Given the description of an element on the screen output the (x, y) to click on. 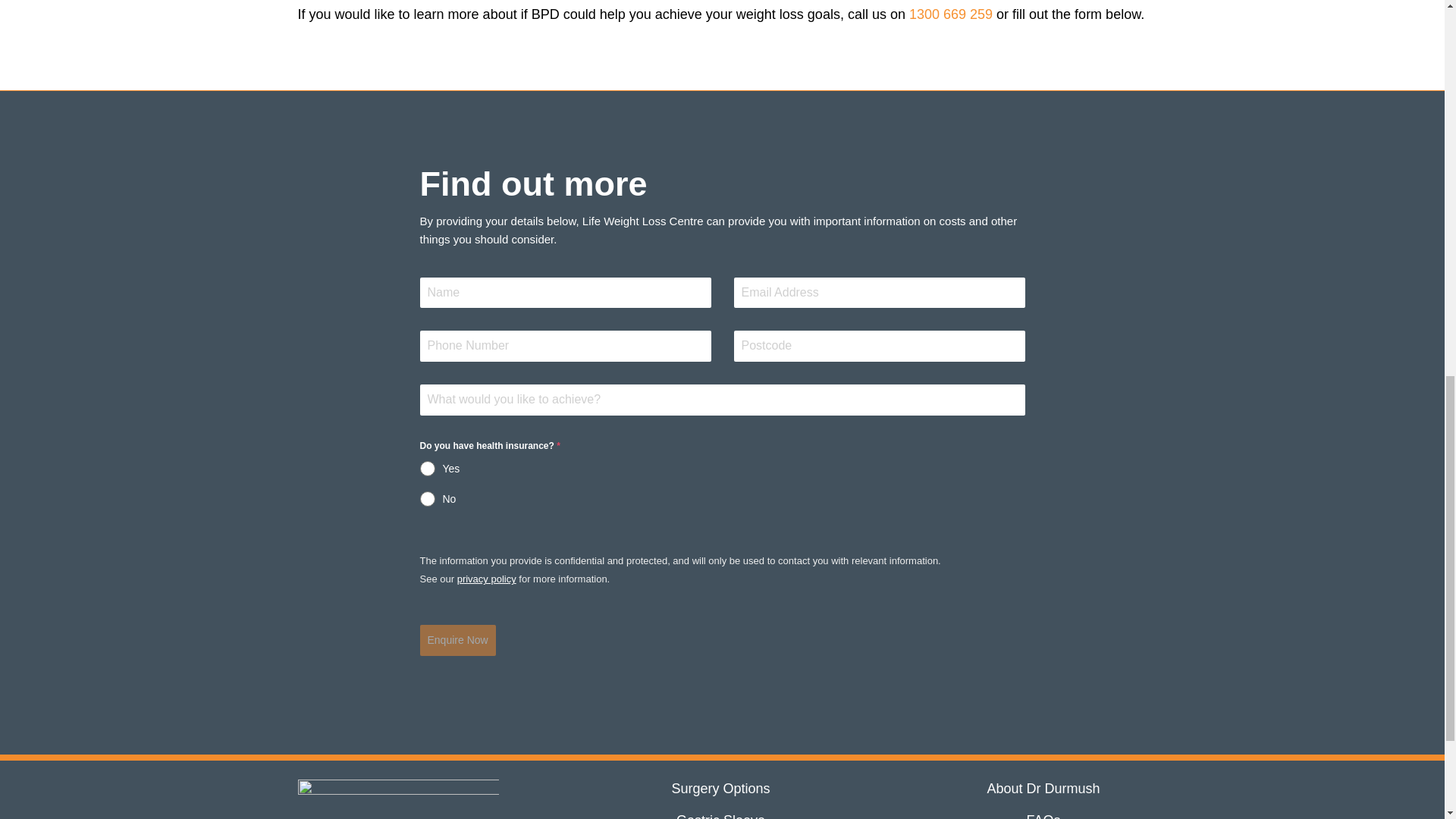
No (722, 498)
Search (1356, 5)
Yes (722, 468)
